Given the description of an element on the screen output the (x, y) to click on. 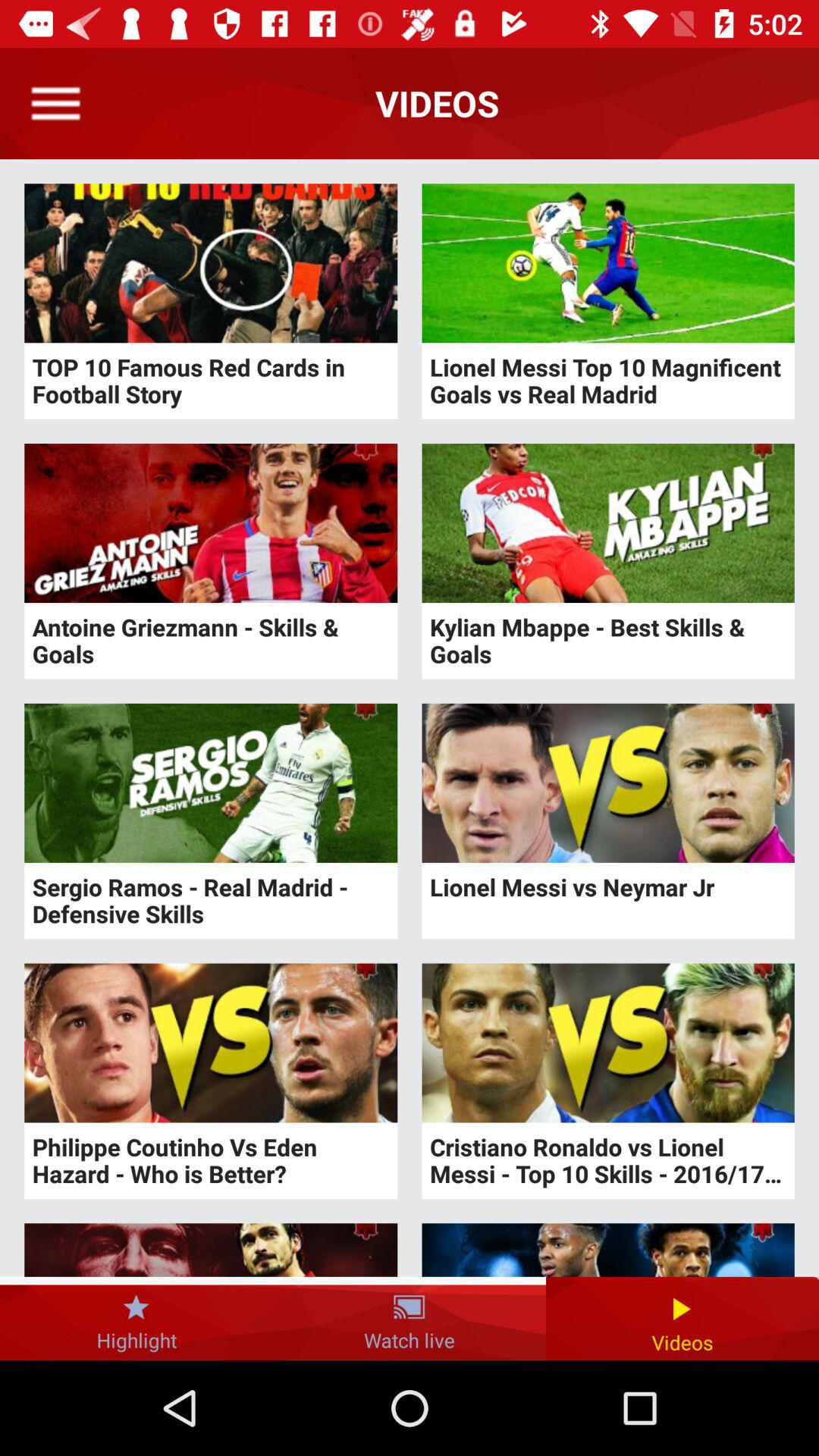
open menu option (55, 103)
